Given the description of an element on the screen output the (x, y) to click on. 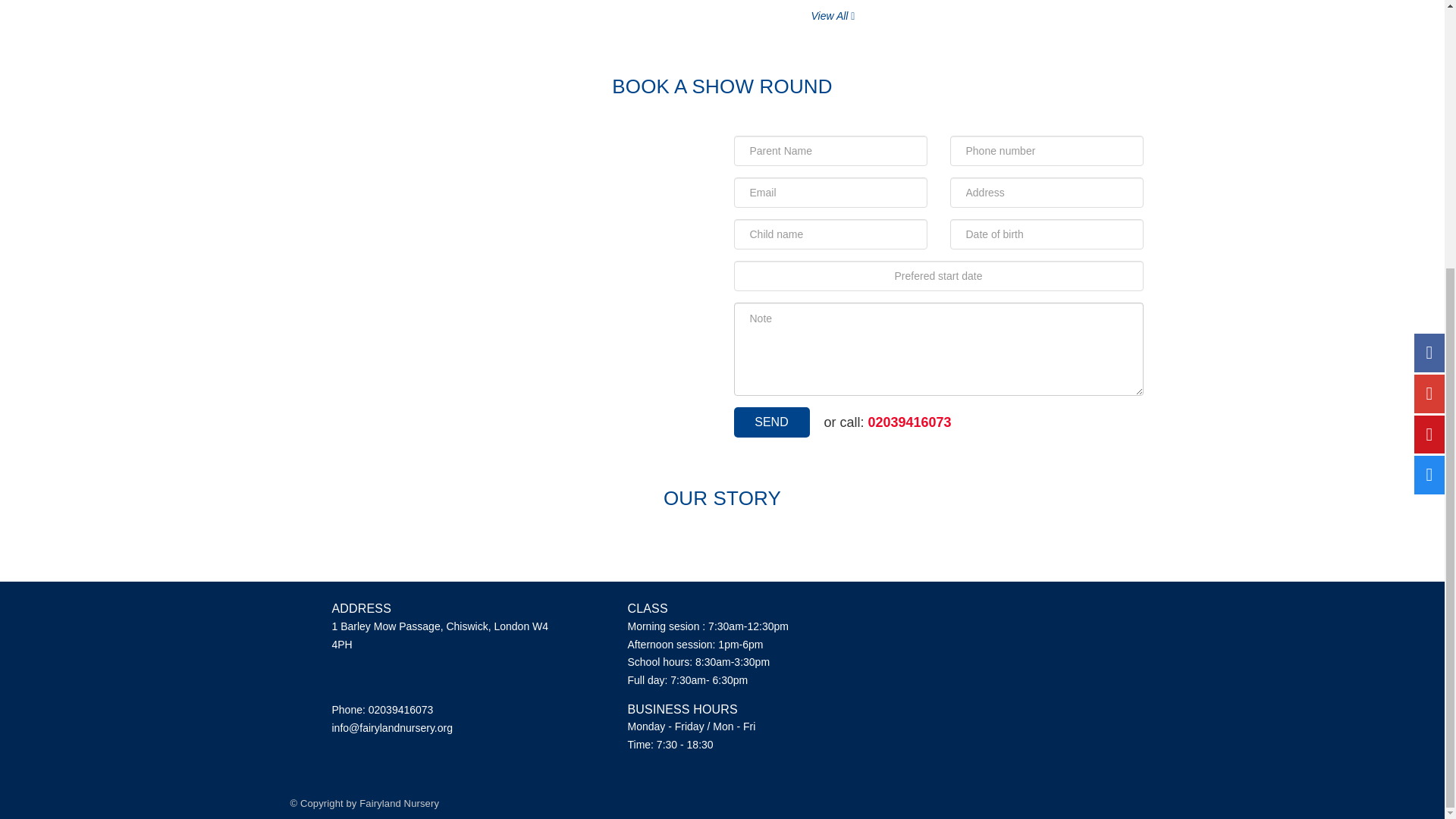
View All (832, 16)
BOOK A SHOW ROUND (721, 86)
SEND (771, 422)
or call: 02039416073 (887, 422)
